Given the description of an element on the screen output the (x, y) to click on. 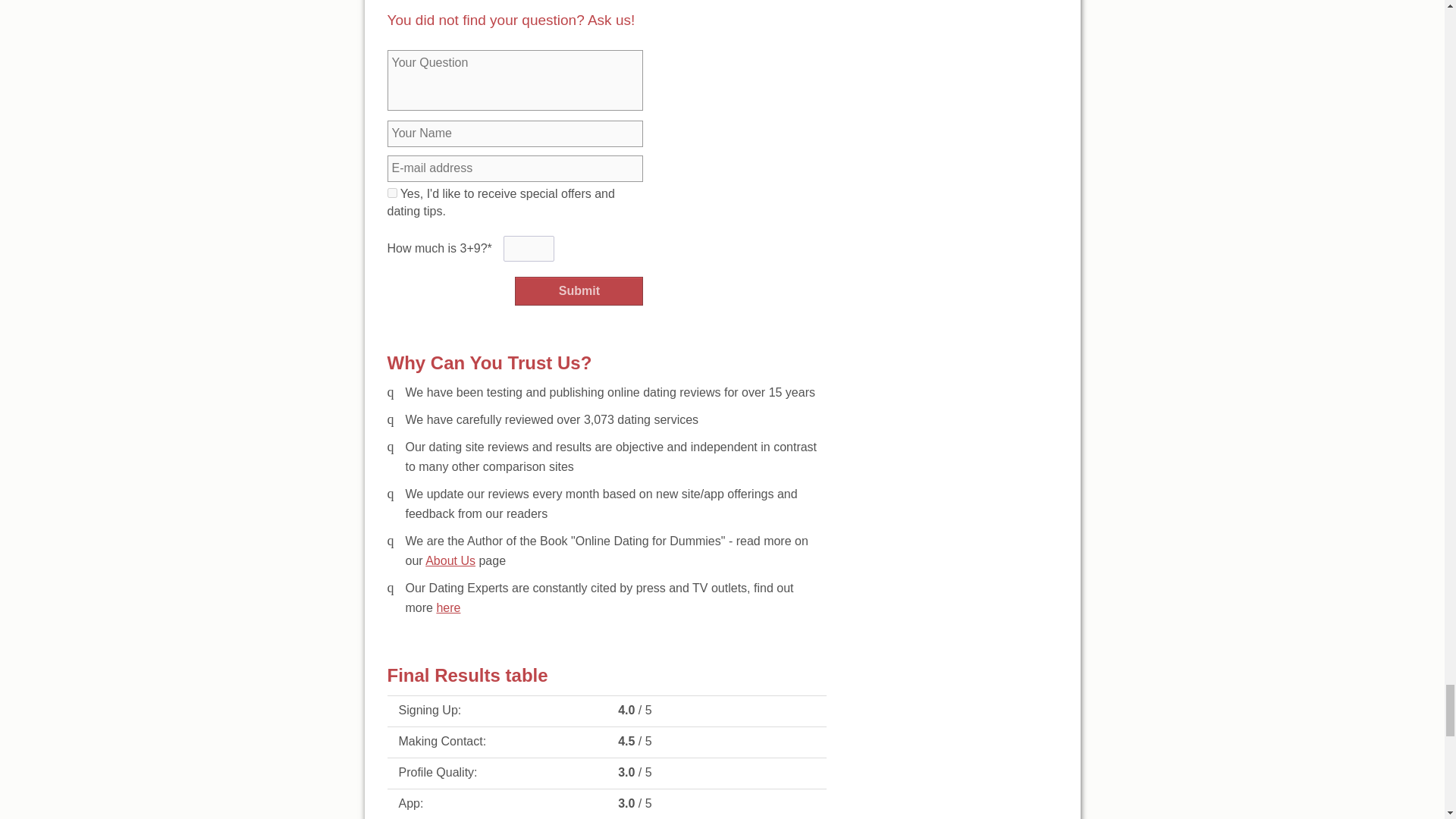
Submit (579, 290)
on (391, 193)
